Given the description of an element on the screen output the (x, y) to click on. 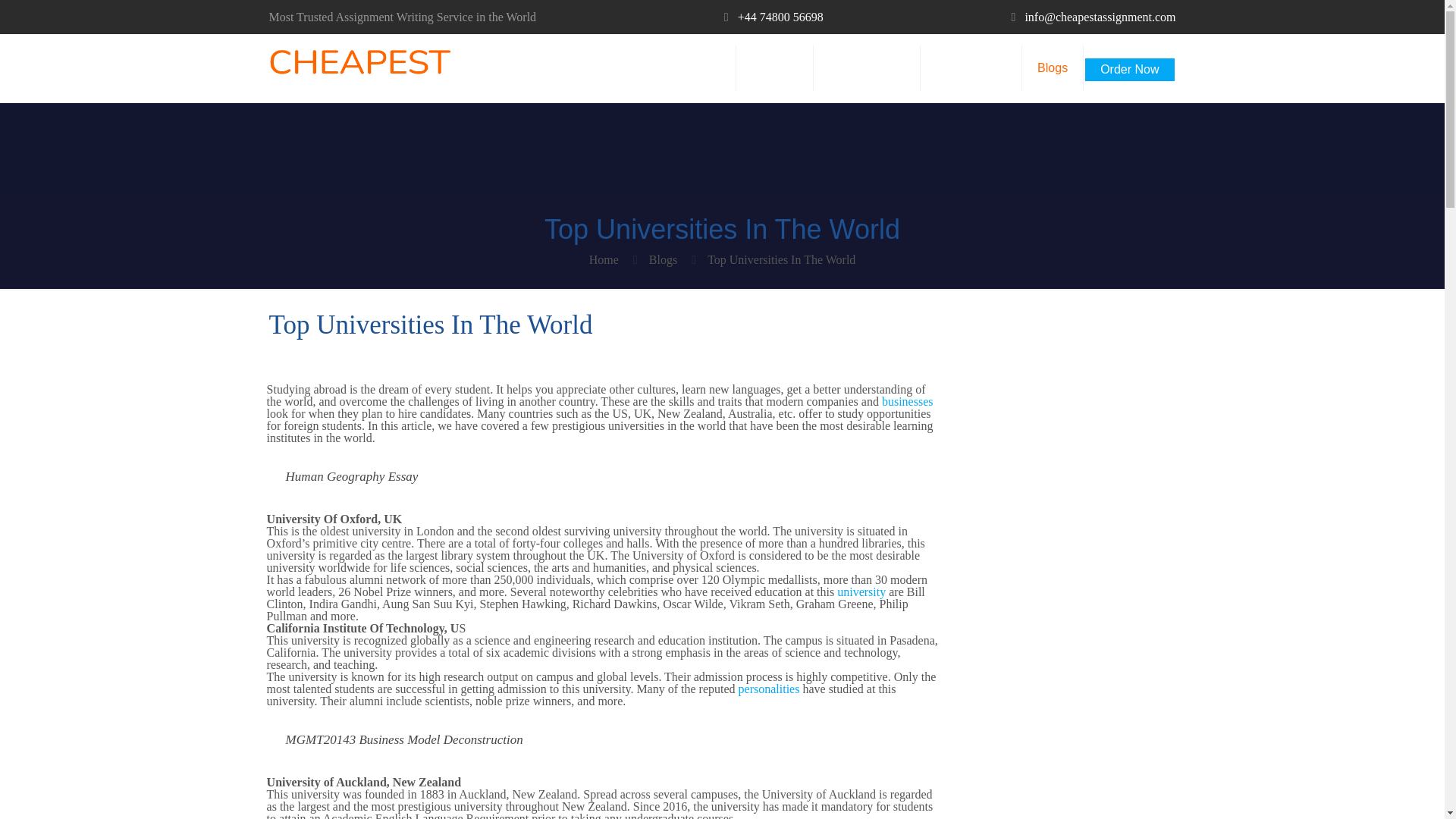
Services (774, 68)
Blogs (663, 259)
Home (603, 259)
Papers Done (971, 68)
Blogs (1052, 68)
Top Universities In The World (781, 259)
Order Now (1128, 64)
Best Assignment Writers (358, 68)
Home (704, 68)
businesses (907, 400)
Human Geography Essay (352, 476)
Free Samples (866, 68)
